Given the description of an element on the screen output the (x, y) to click on. 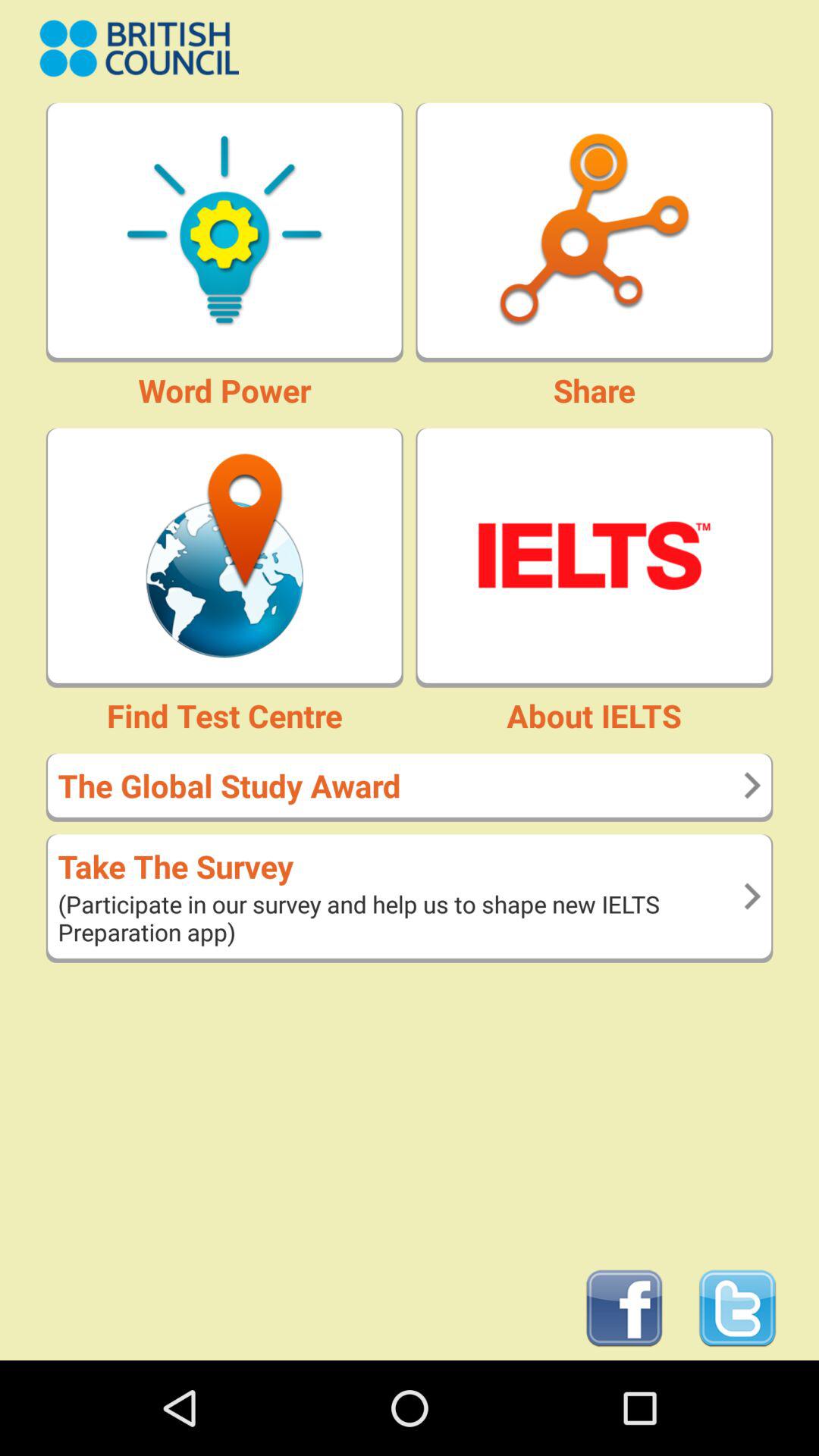
go to twitter (737, 1308)
